Given the description of an element on the screen output the (x, y) to click on. 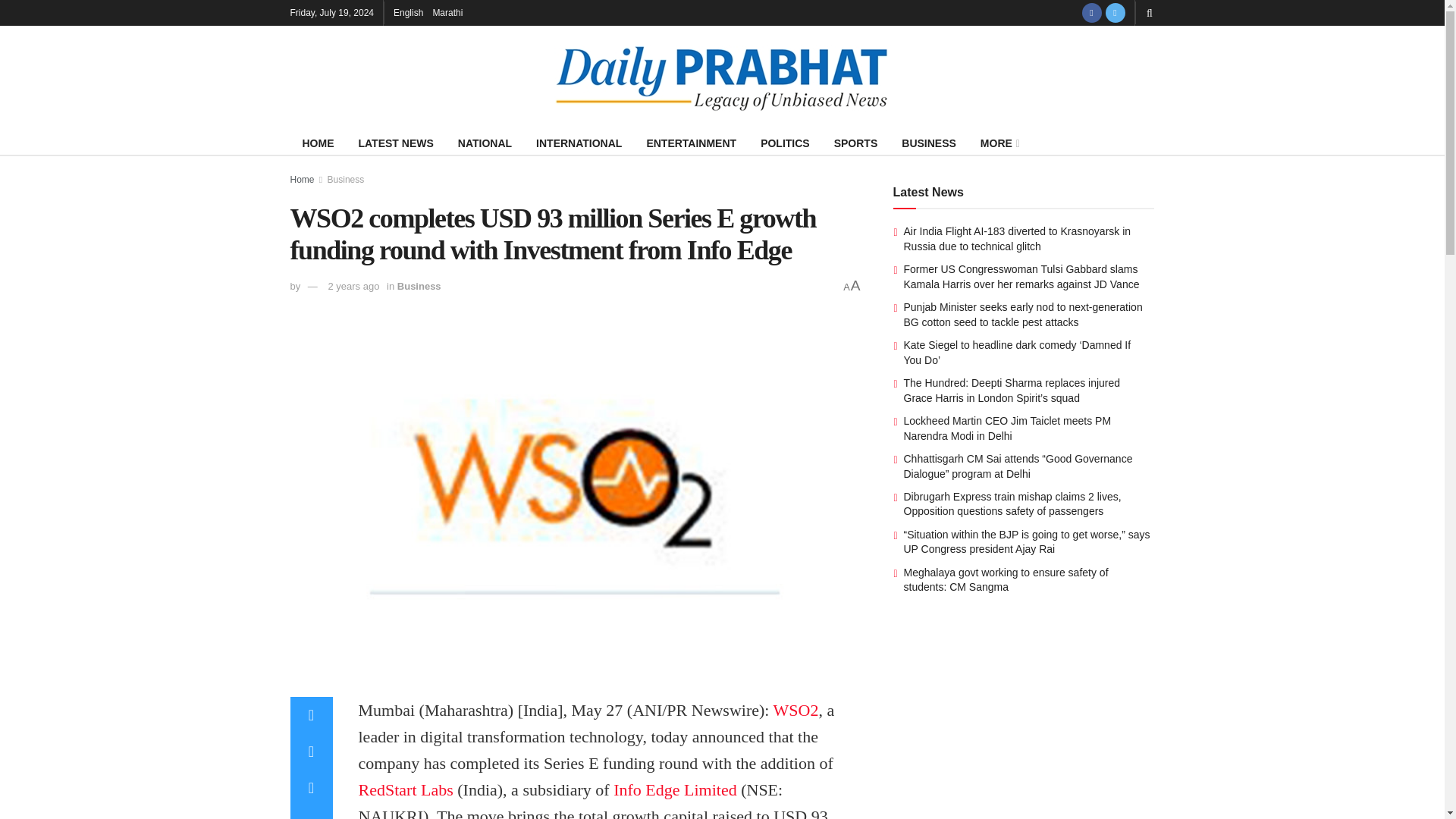
Marathi (447, 12)
BUSINESS (928, 142)
SPORTS (855, 142)
HOME (317, 142)
2 years ago (352, 285)
LATEST NEWS (395, 142)
Business (346, 179)
POLITICS (785, 142)
ENTERTAINMENT (690, 142)
MORE (998, 142)
Business (419, 285)
NATIONAL (484, 142)
INTERNATIONAL (578, 142)
English (408, 12)
Advertisement (1023, 726)
